Given the description of an element on the screen output the (x, y) to click on. 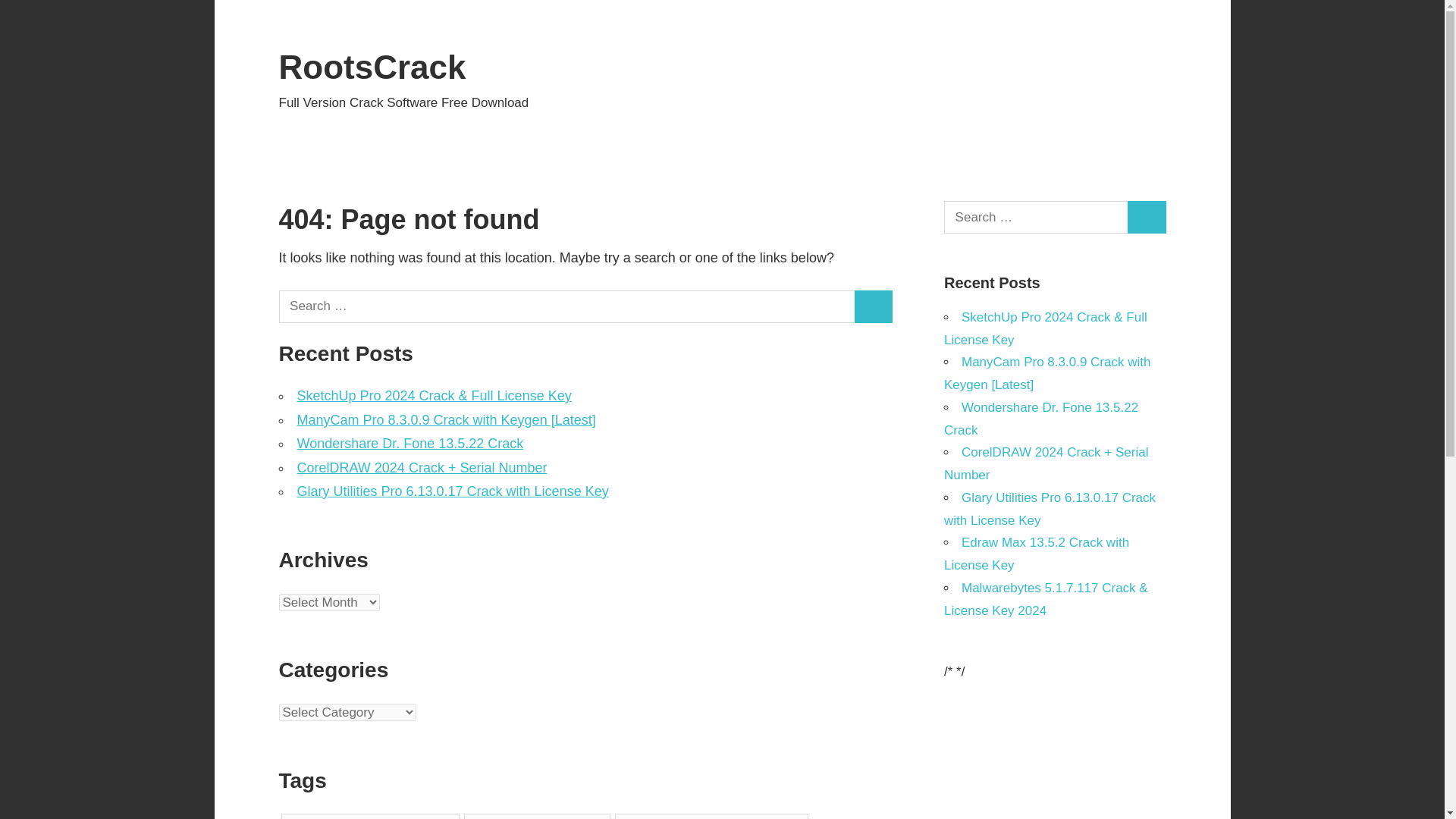
RootsCrack (372, 66)
Search (873, 306)
Wondershare Dr. Fone 13.5.22 Crack (410, 443)
Glary Utilities Pro 6.13.0.17 Crack with License Key (452, 491)
Search for: (1035, 216)
ABBYY FineReader 16.0.14.7295 Crack (711, 816)
ABBYY FineReader 16 Crack (537, 816)
Search for: (567, 306)
360 Total Security 11.0.0.1022 Crack (370, 816)
